Given the description of an element on the screen output the (x, y) to click on. 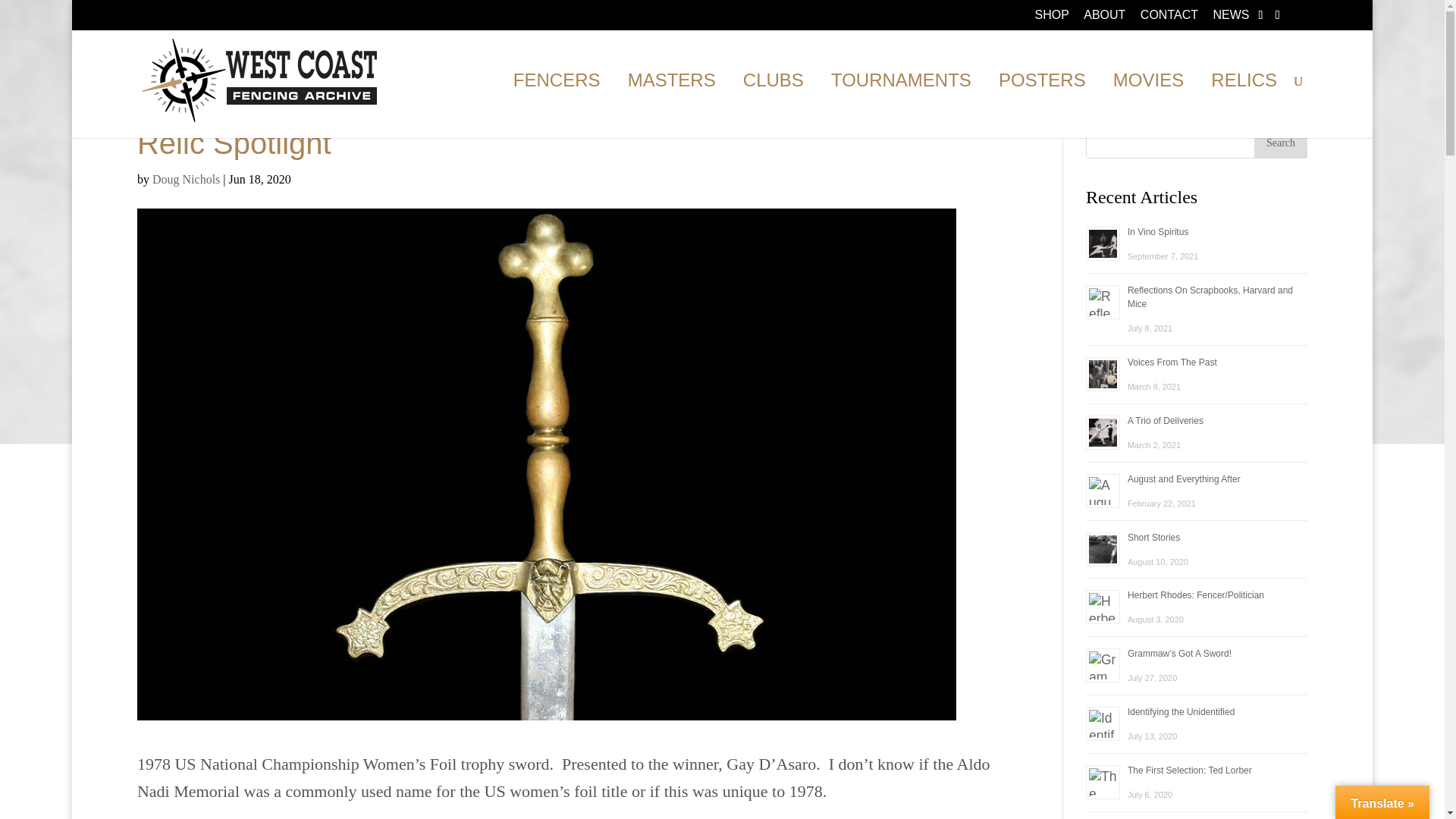
Search (1280, 142)
NEWS (1230, 19)
TOURNAMENTS (901, 106)
Reflections On Scrapbooks, Harvard and Mice (1209, 297)
Short Stories (1152, 537)
A Trio of Deliveries (1165, 420)
SHOP (1050, 19)
Voices From The Past (1171, 362)
In Vino Spiritus (1157, 231)
FENCERS (556, 106)
